Given the description of an element on the screen output the (x, y) to click on. 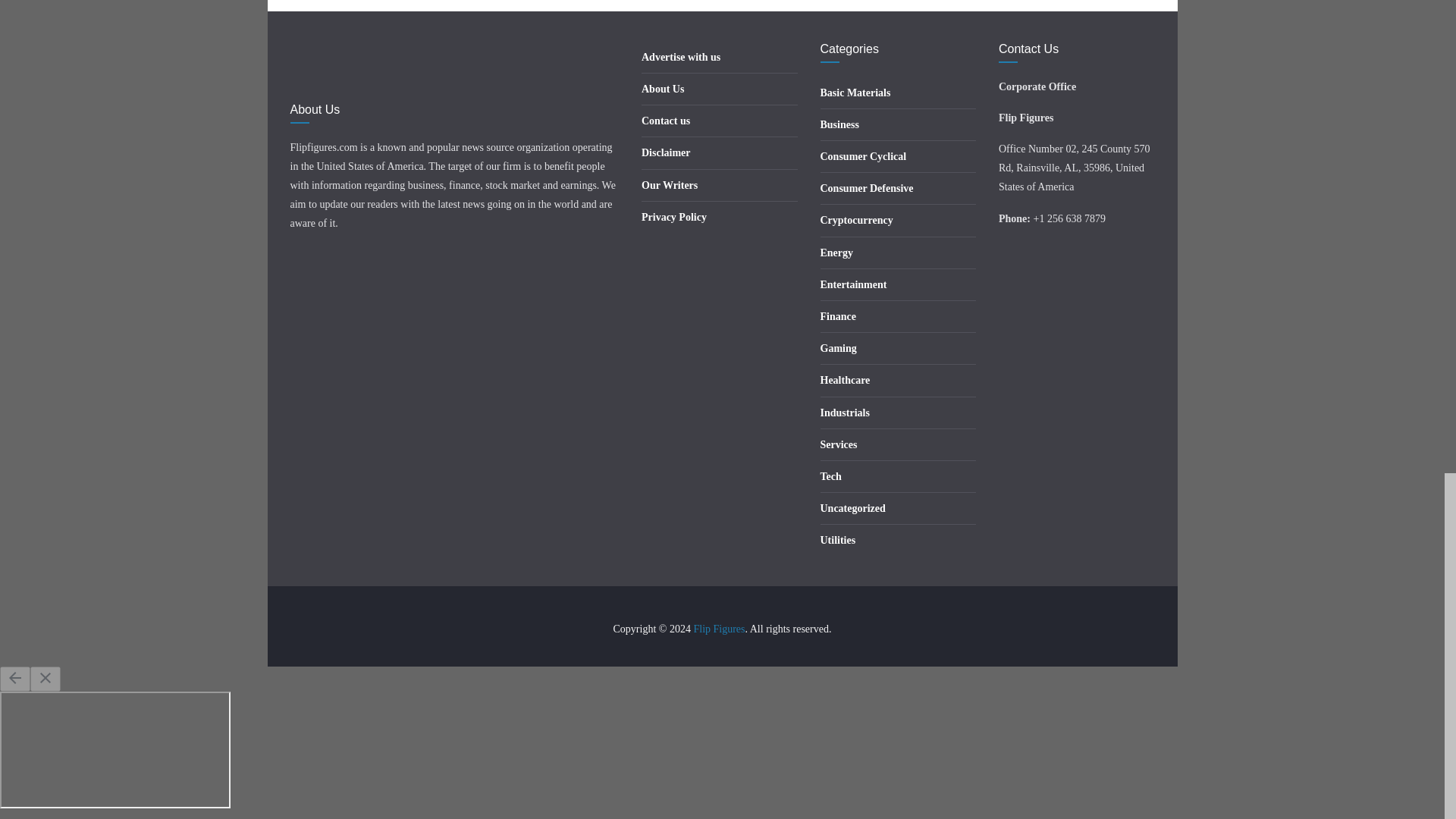
Tech (831, 476)
Contact us (666, 120)
Finance (838, 316)
Consumer Defensive (867, 188)
Basic Materials (856, 92)
Consumer Cyclical (864, 156)
Our Writers (669, 184)
Healthcare (845, 379)
Entertainment (853, 284)
Advertise with us (681, 57)
